Given the description of an element on the screen output the (x, y) to click on. 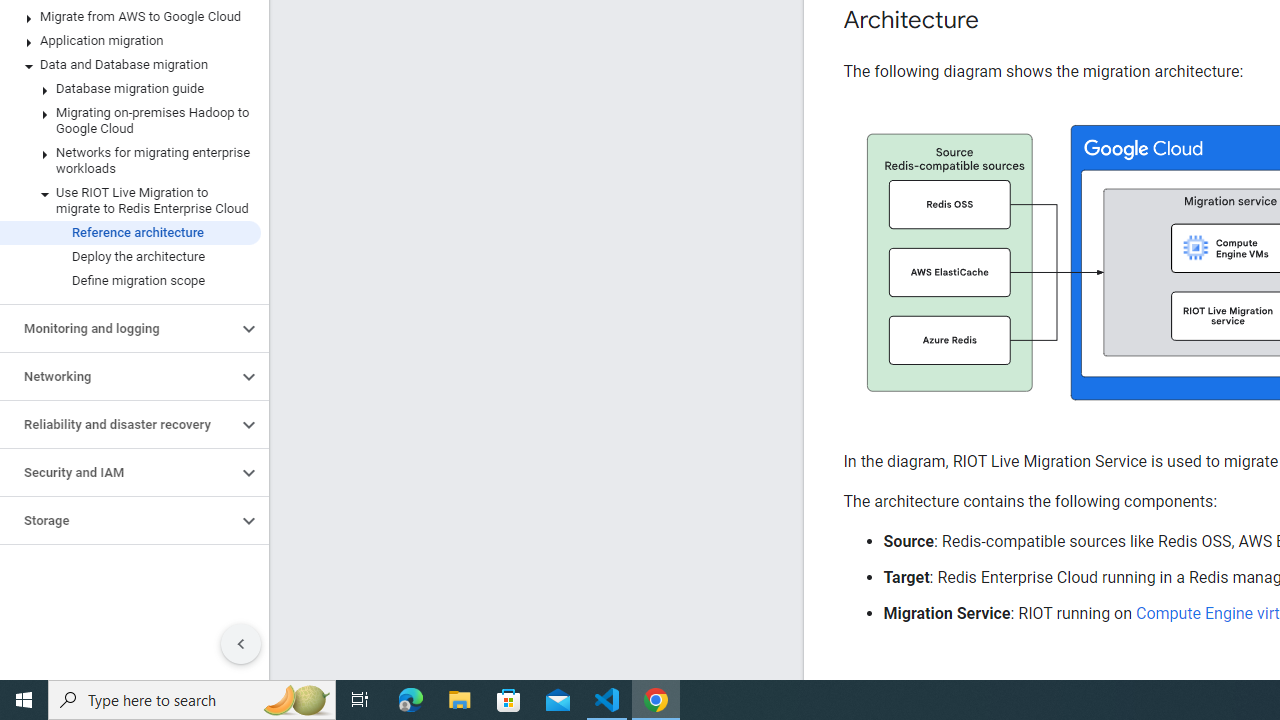
Hide side navigation (241, 643)
Migrate from AWS to Google Cloud (130, 16)
Define migration scope (130, 281)
Deploy the architecture (130, 256)
Networks for migrating enterprise workloads (130, 160)
Migrating on-premises Hadoop to Google Cloud (130, 120)
Networking (118, 376)
Reliability and disaster recovery (118, 425)
Security and IAM (118, 472)
Use RIOT Live Migration to migrate to Redis Enterprise Cloud (130, 200)
Application migration (130, 40)
Reference architecture (130, 232)
Data and Database migration (130, 65)
Monitoring and logging (118, 328)
